Given the description of an element on the screen output the (x, y) to click on. 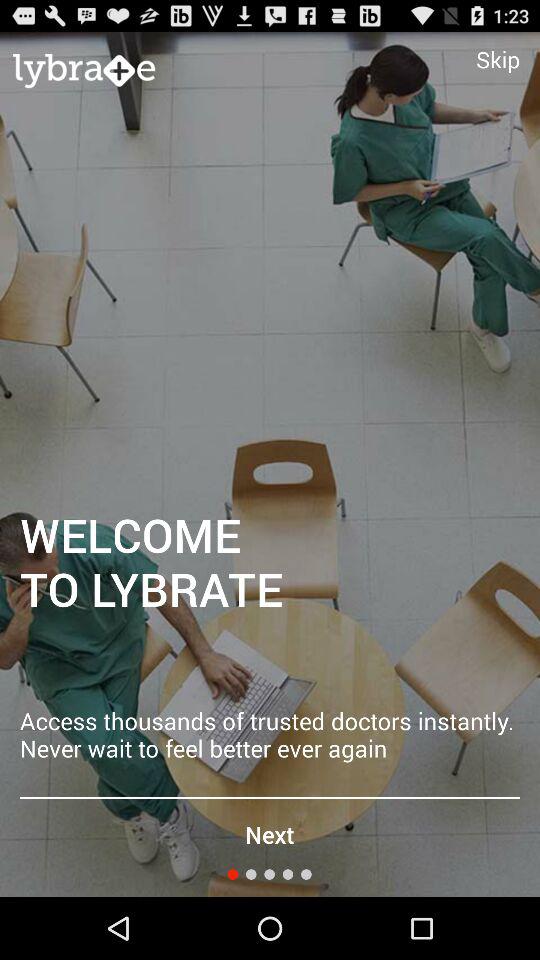
tap the skip item (498, 59)
